Given the description of an element on the screen output the (x, y) to click on. 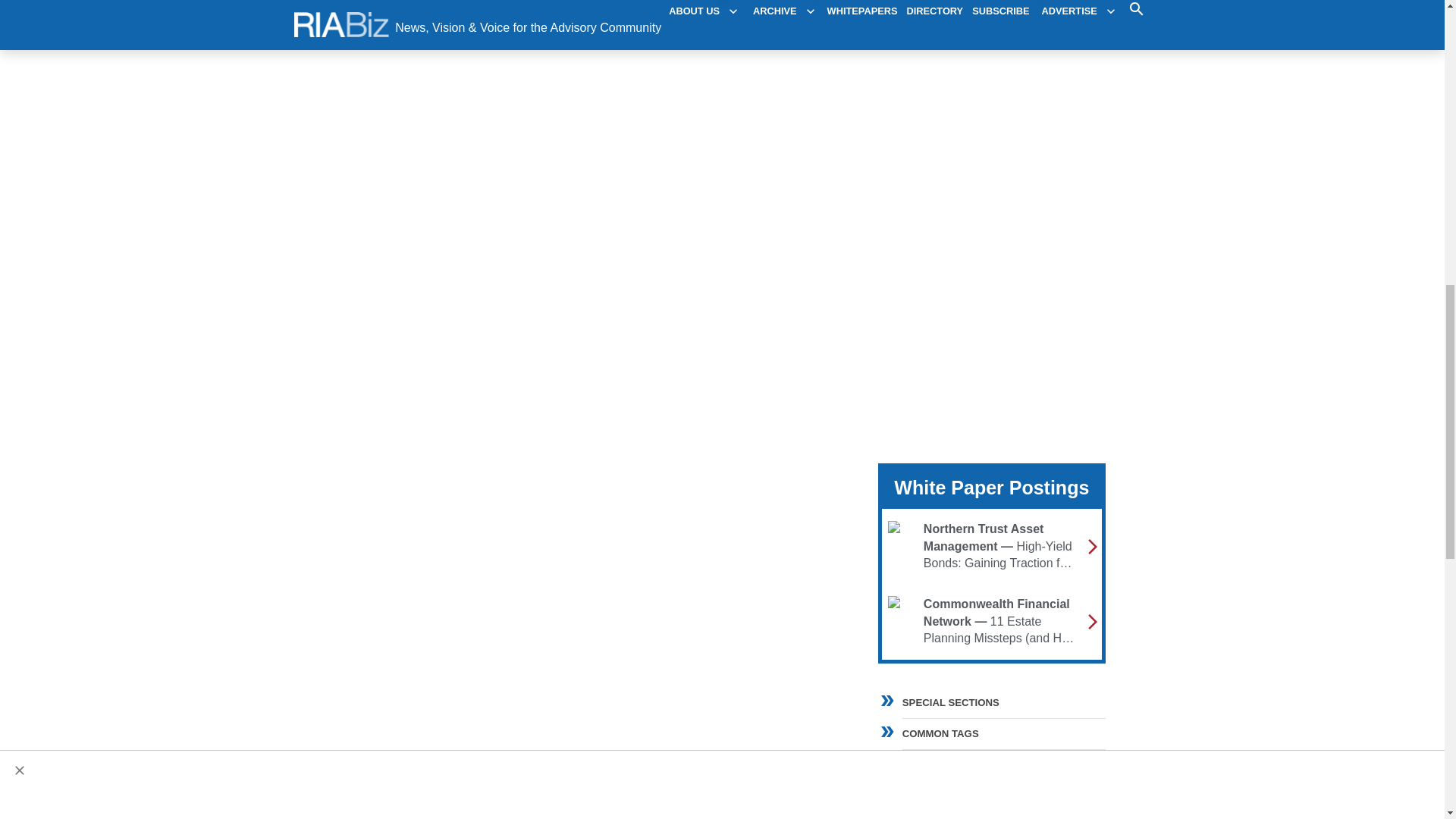
COMMON TAGS (991, 731)
RECENT ARTICLES (991, 762)
SPECIAL SECTIONS (1003, 702)
White Paper Postings (991, 486)
POPULAR WRITERS (991, 793)
